Given the description of an element on the screen output the (x, y) to click on. 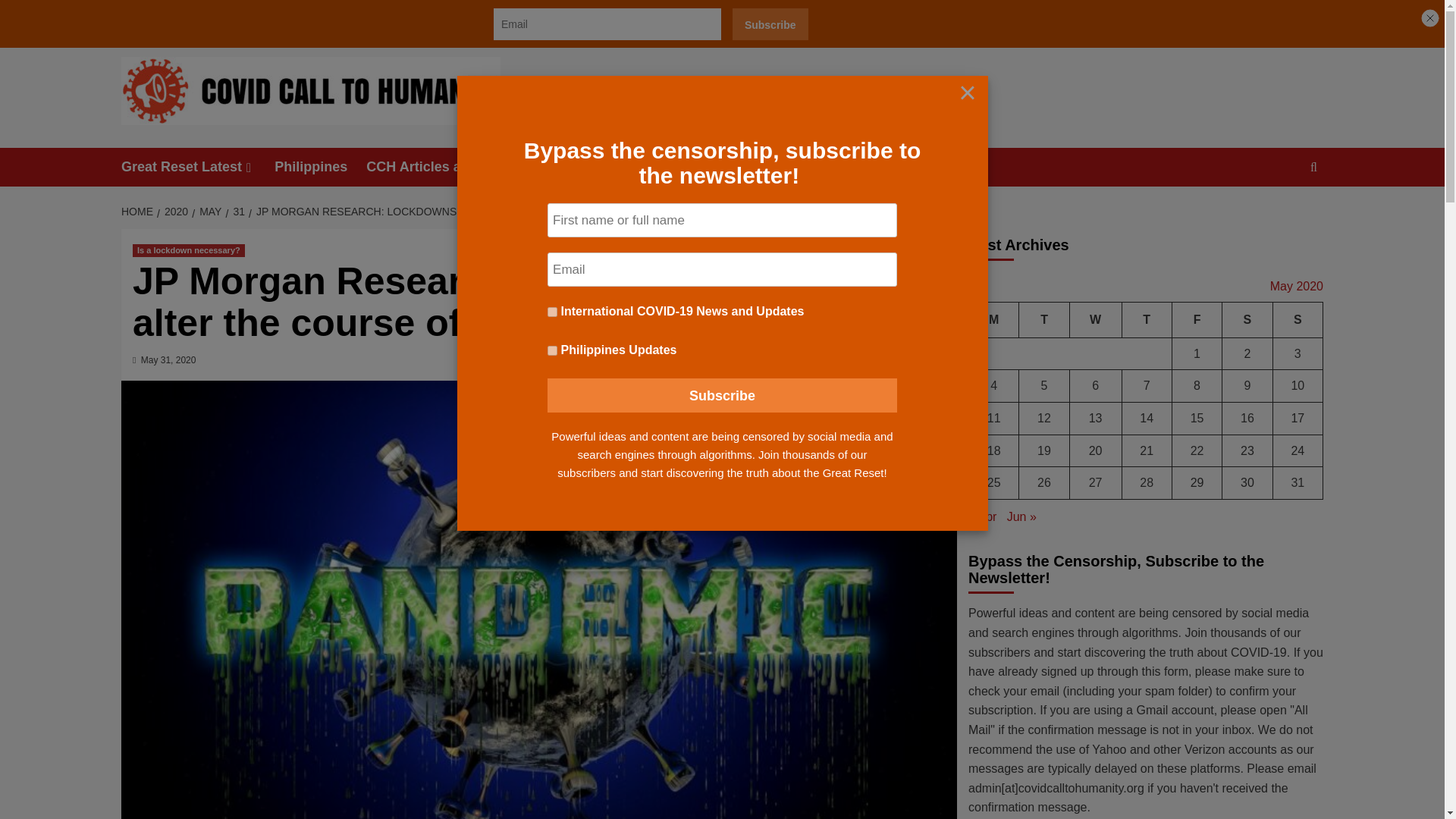
4 (552, 350)
Subscribe (770, 24)
Sunday (1297, 320)
1 (552, 311)
ABOUT (244, 17)
Friday (1196, 320)
Tuesday (1043, 320)
Thursday (1146, 320)
Subscribe (721, 395)
FAQ (427, 17)
NEWSLETTER ARCHIVE (337, 17)
Monday (994, 320)
Saturday (1247, 320)
Wednesday (1094, 320)
